Given the description of an element on the screen output the (x, y) to click on. 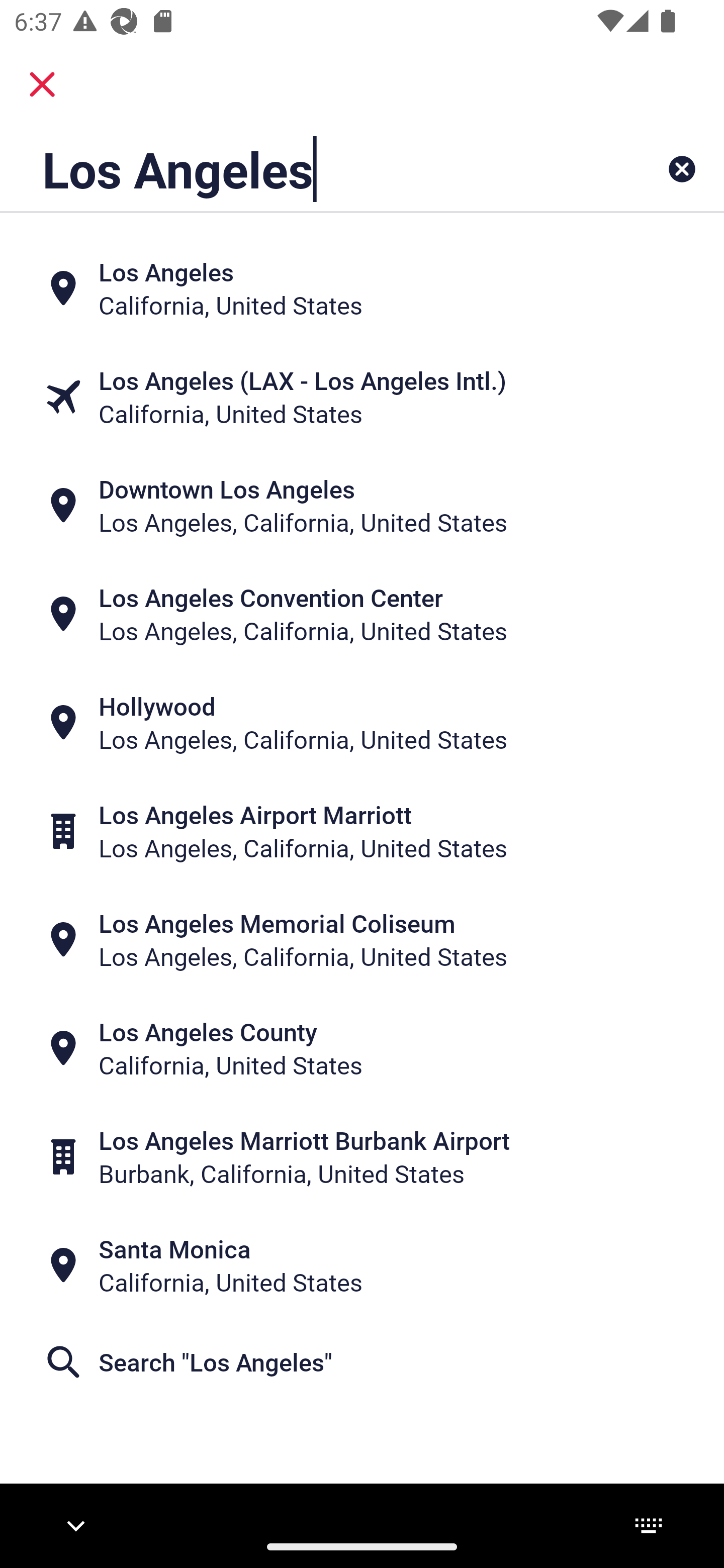
close. (42, 84)
Clear (681, 169)
Los Angeles (298, 169)
Los Angeles California, United States (362, 288)
Hollywood Los Angeles, California, United States (362, 722)
Los Angeles County California, United States (362, 1048)
Santa Monica California, United States (362, 1265)
Search "Los Angeles" (362, 1362)
